Given the description of an element on the screen output the (x, y) to click on. 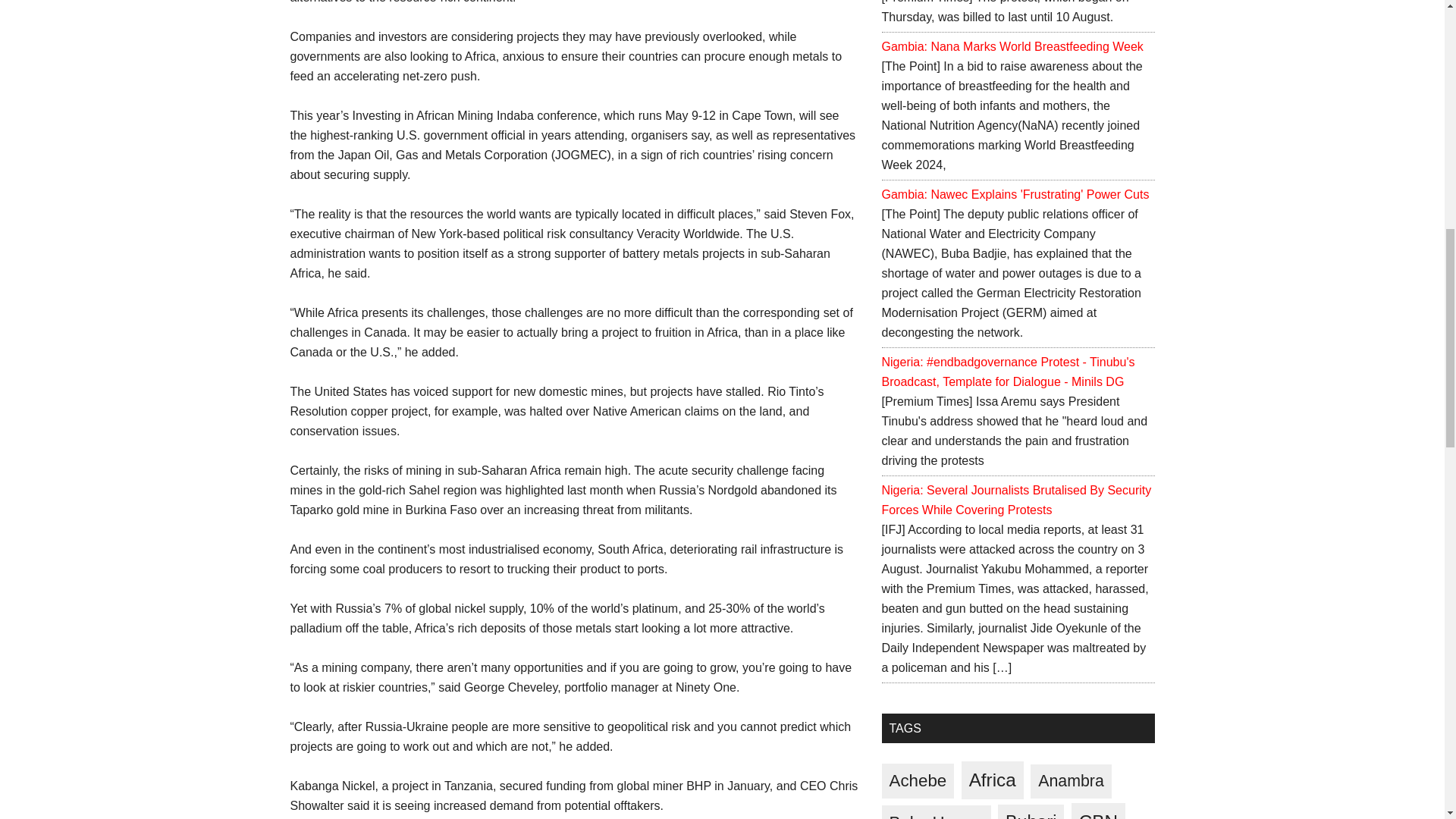
Gambia: Nana Marks World Breastfeeding Week (1011, 46)
Boko Haram (935, 812)
Buhari (1030, 811)
Gambia: Nawec Explains 'Frustrating' Power Cuts (1014, 194)
Achebe (916, 780)
Africa (991, 779)
Anambra (1071, 781)
CBN (1098, 811)
